Given the description of an element on the screen output the (x, y) to click on. 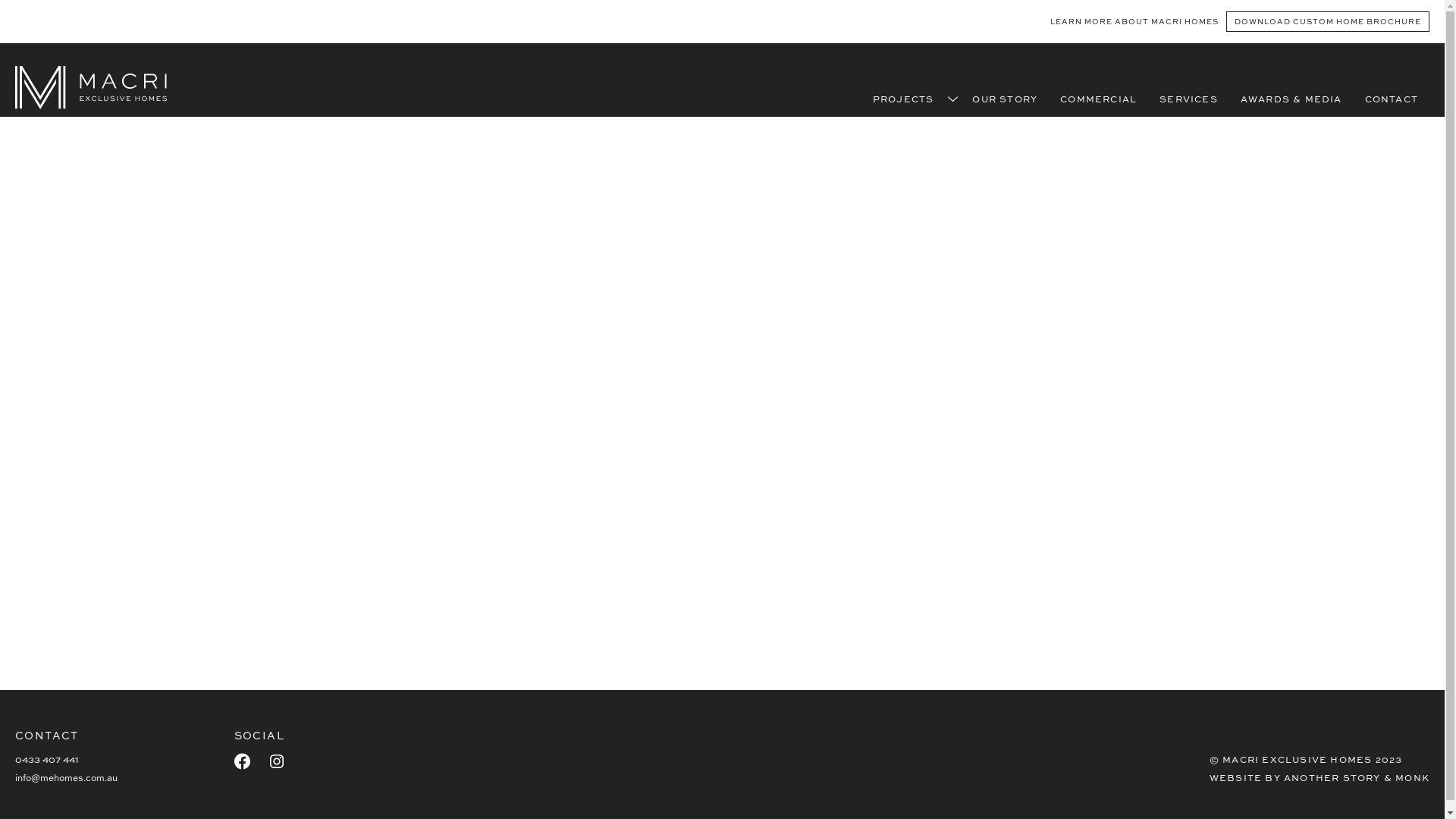
0433 407 441 Element type: text (46, 758)
Download Element type: text (533, 559)
ANOTHER STORY Element type: text (1331, 777)
COMMERCIAL Element type: text (1098, 98)
DOWNLOAD CUSTOM HOME BROCHURE Element type: text (1327, 21)
info@mehomes.com.au Element type: text (66, 777)
Facebook Element type: text (243, 761)
OUR STORY Element type: text (1004, 98)
PROJECTS Element type: text (903, 98)
SERVICES Element type: text (1188, 98)
AWARDS & MEDIA Element type: text (1291, 98)
CONTACT Element type: text (1391, 98)
Instagram Element type: text (276, 761)
MONK Element type: text (1412, 777)
SHOW SUB MENU Element type: text (952, 98)
